Given the description of an element on the screen output the (x, y) to click on. 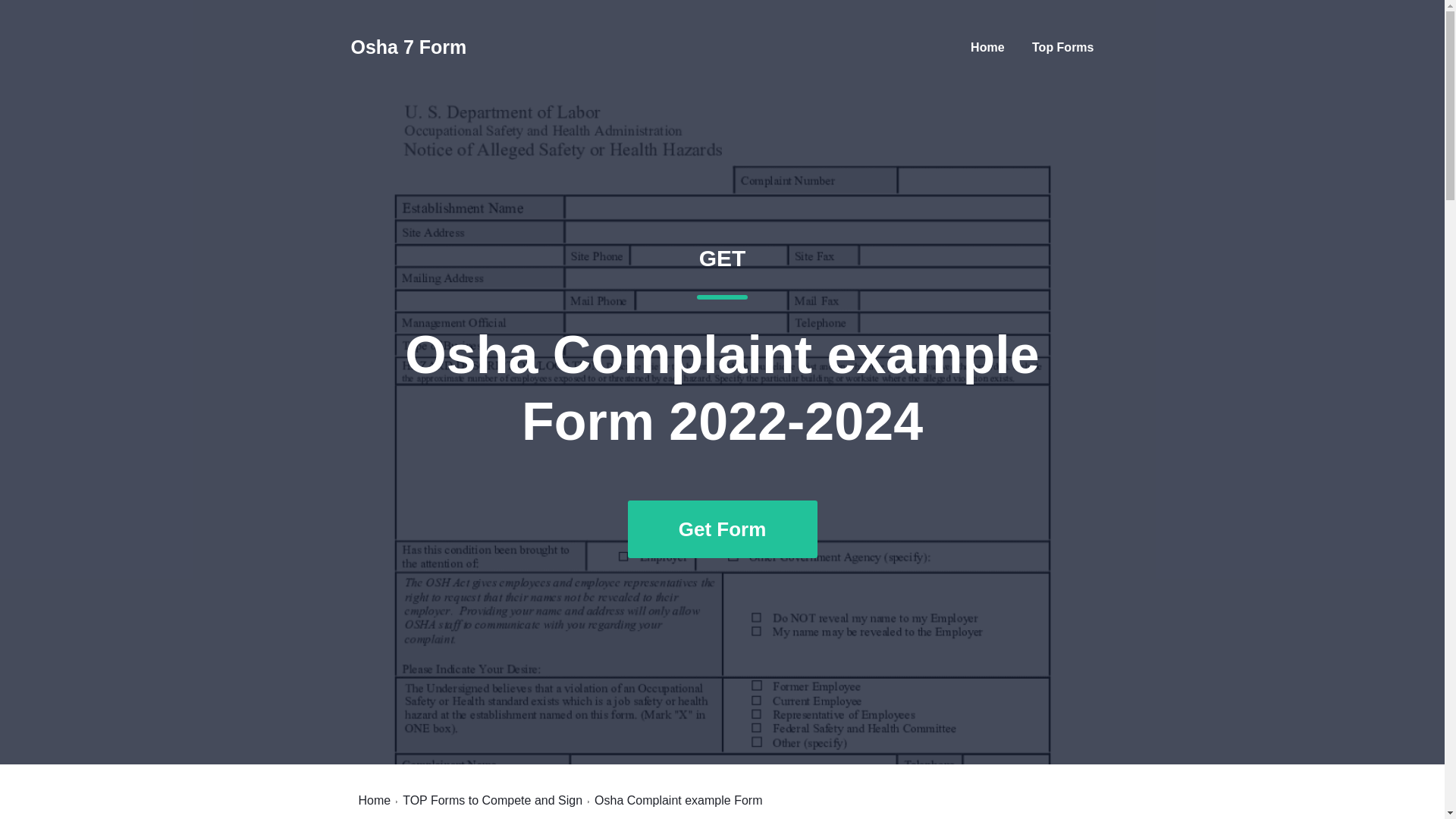
Osha 7 Form (987, 47)
Home (407, 46)
Top Forms (374, 800)
TOP Forms to Compete and Sign (1062, 47)
